Given the description of an element on the screen output the (x, y) to click on. 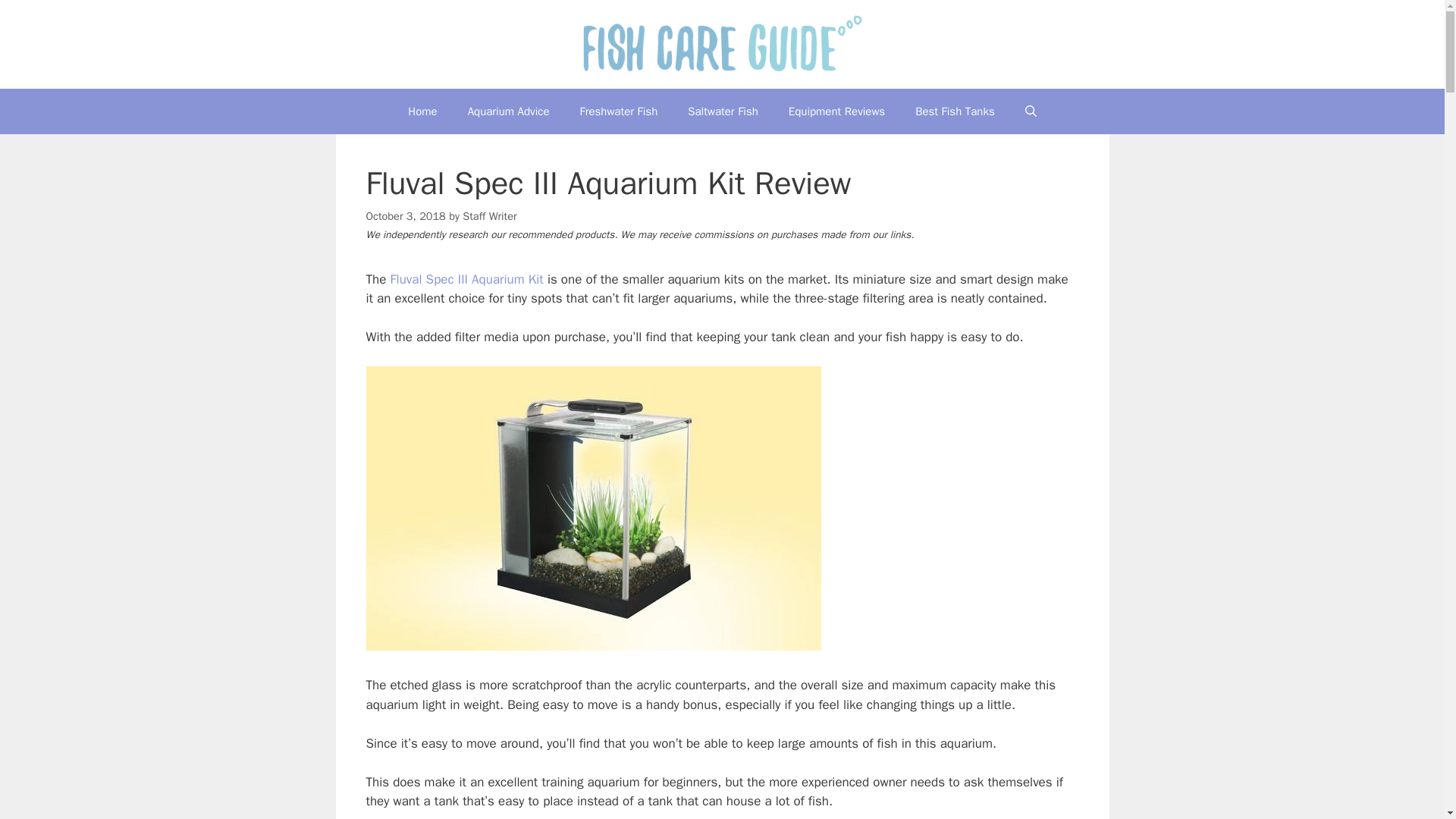
View all posts by Staff Writer (489, 215)
Fish Care Guide (722, 43)
Best Fish Tanks (954, 111)
Staff Writer (489, 215)
Fluval Spec III Aquarium Kit (466, 279)
Aquarium Advice (508, 111)
Freshwater Fish (618, 111)
Saltwater Fish (722, 111)
Home (422, 111)
Fish Care Guide (722, 44)
Equipment Reviews (836, 111)
